Given the description of an element on the screen output the (x, y) to click on. 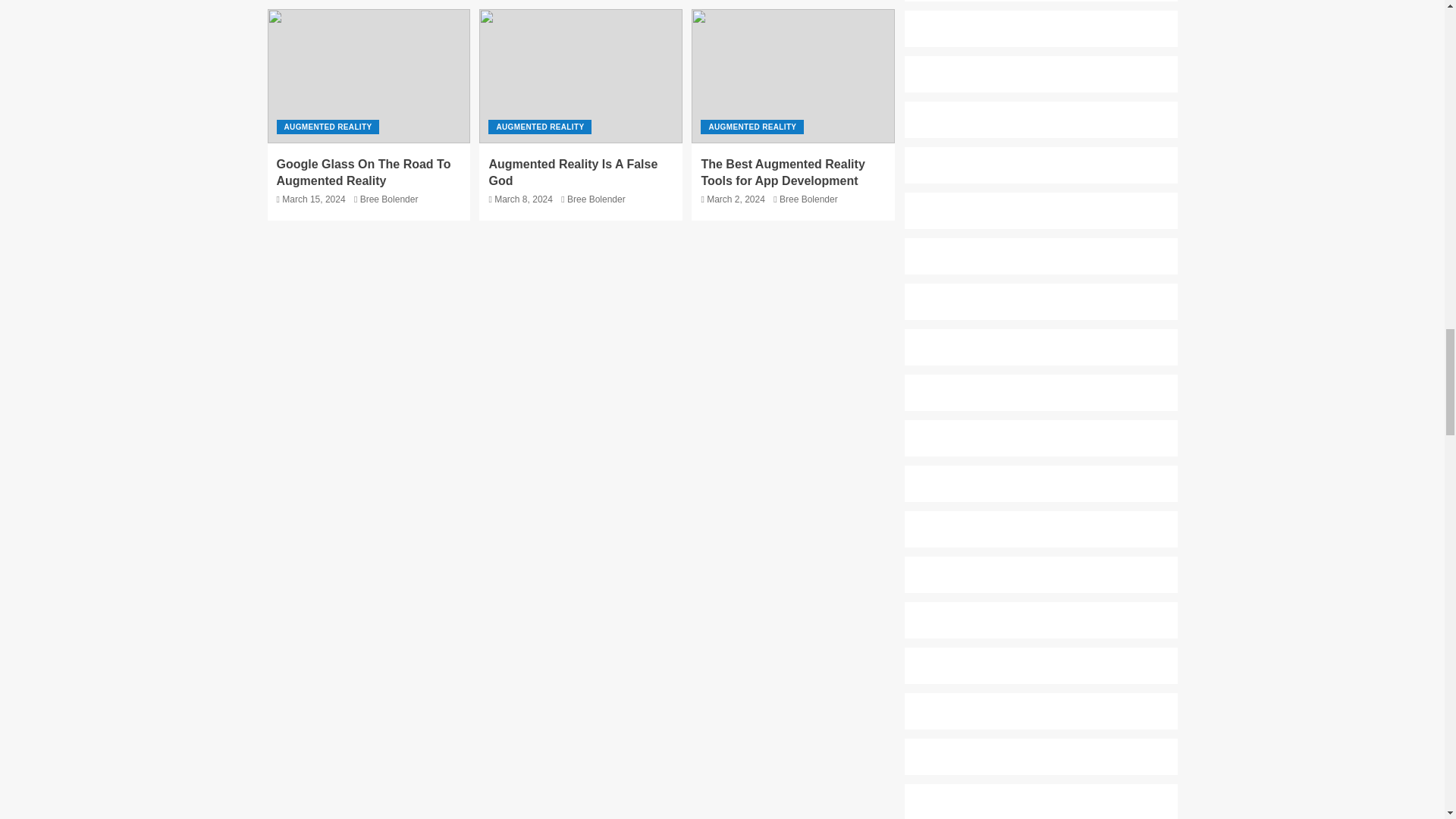
AUGMENTED REALITY (539, 126)
Bree Bolender (389, 199)
Bree Bolender (808, 199)
AUGMENTED REALITY (751, 126)
Google Glass On The Road To Augmented Reality (362, 172)
Augmented Reality Is A False God (572, 172)
The Best Augmented Reality Tools for App Development (782, 172)
AUGMENTED REALITY (327, 126)
Bree Bolender (596, 199)
